Given the description of an element on the screen output the (x, y) to click on. 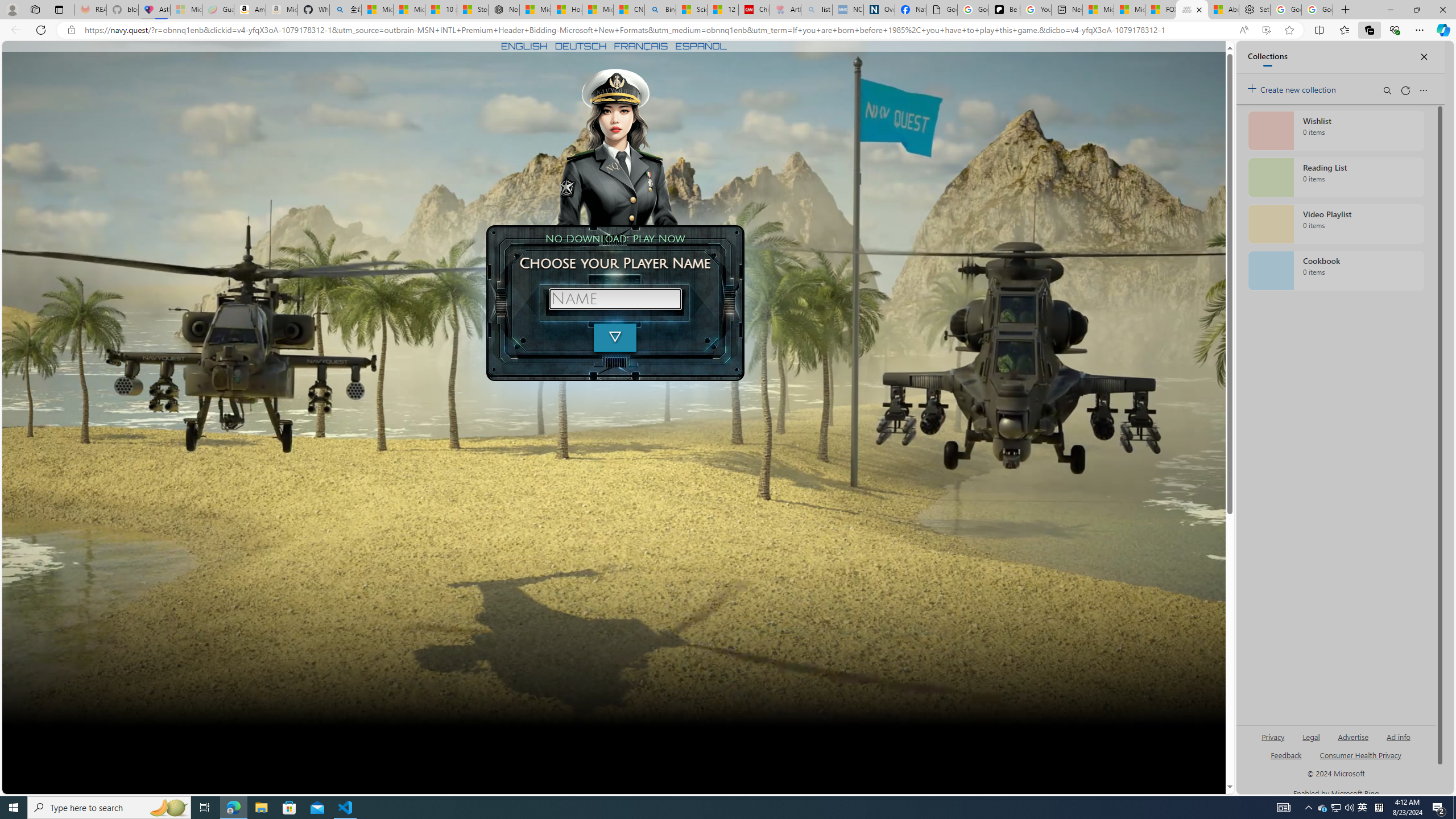
Minimize (1390, 9)
Stocks - MSN (472, 9)
Google Analytics Opt-out Browser Add-on Download Page (941, 9)
Nordace - Nordace Siena Is Not An Ordinary Backpack (503, 9)
Enhance video (1266, 29)
Workspaces (34, 9)
Split screen (1318, 29)
Science - MSN (691, 9)
Be Smart | creating Science videos | Patreon (1004, 9)
FOX News - MSN (1160, 9)
AutomationID: genId96 (1285, 759)
